Given the description of an element on the screen output the (x, y) to click on. 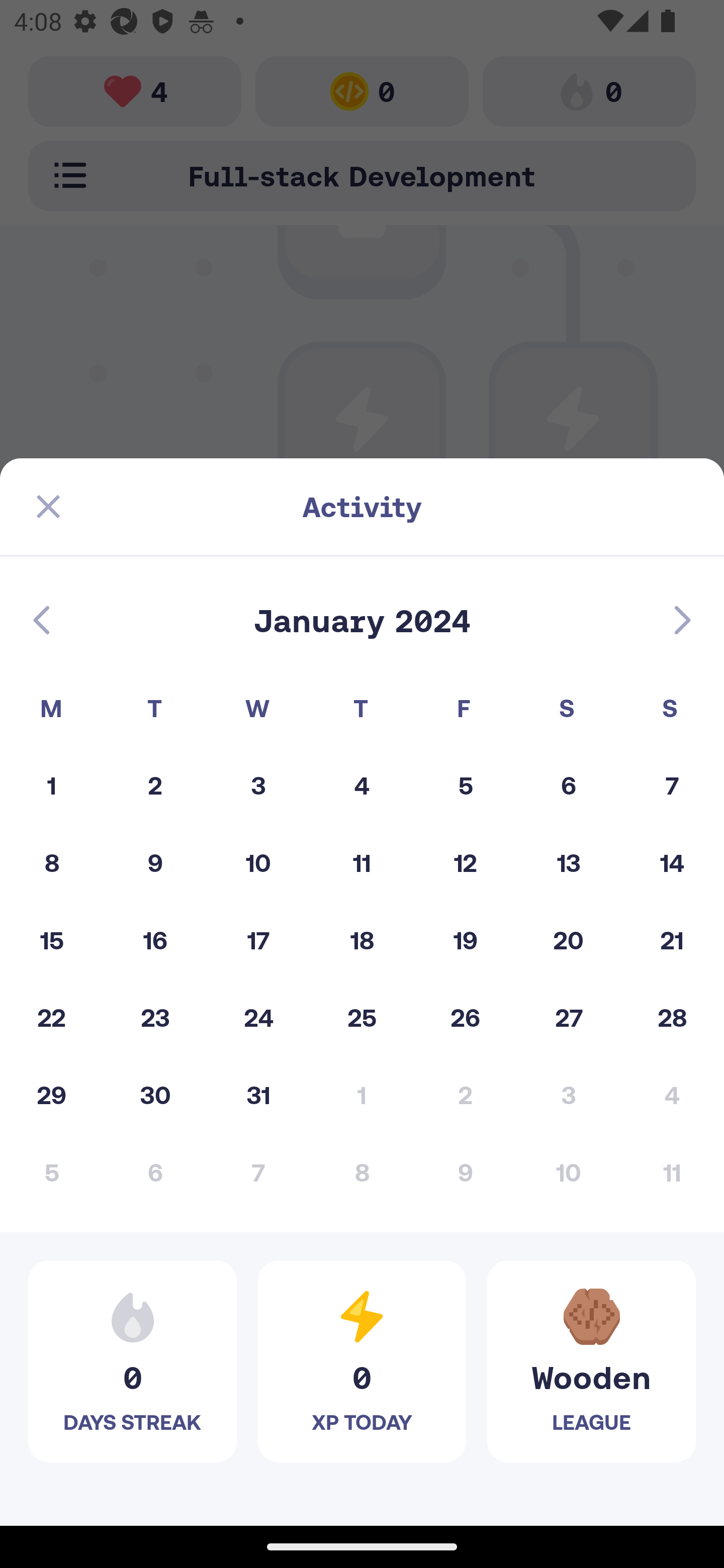
Close (47, 506)
